Given the description of an element on the screen output the (x, y) to click on. 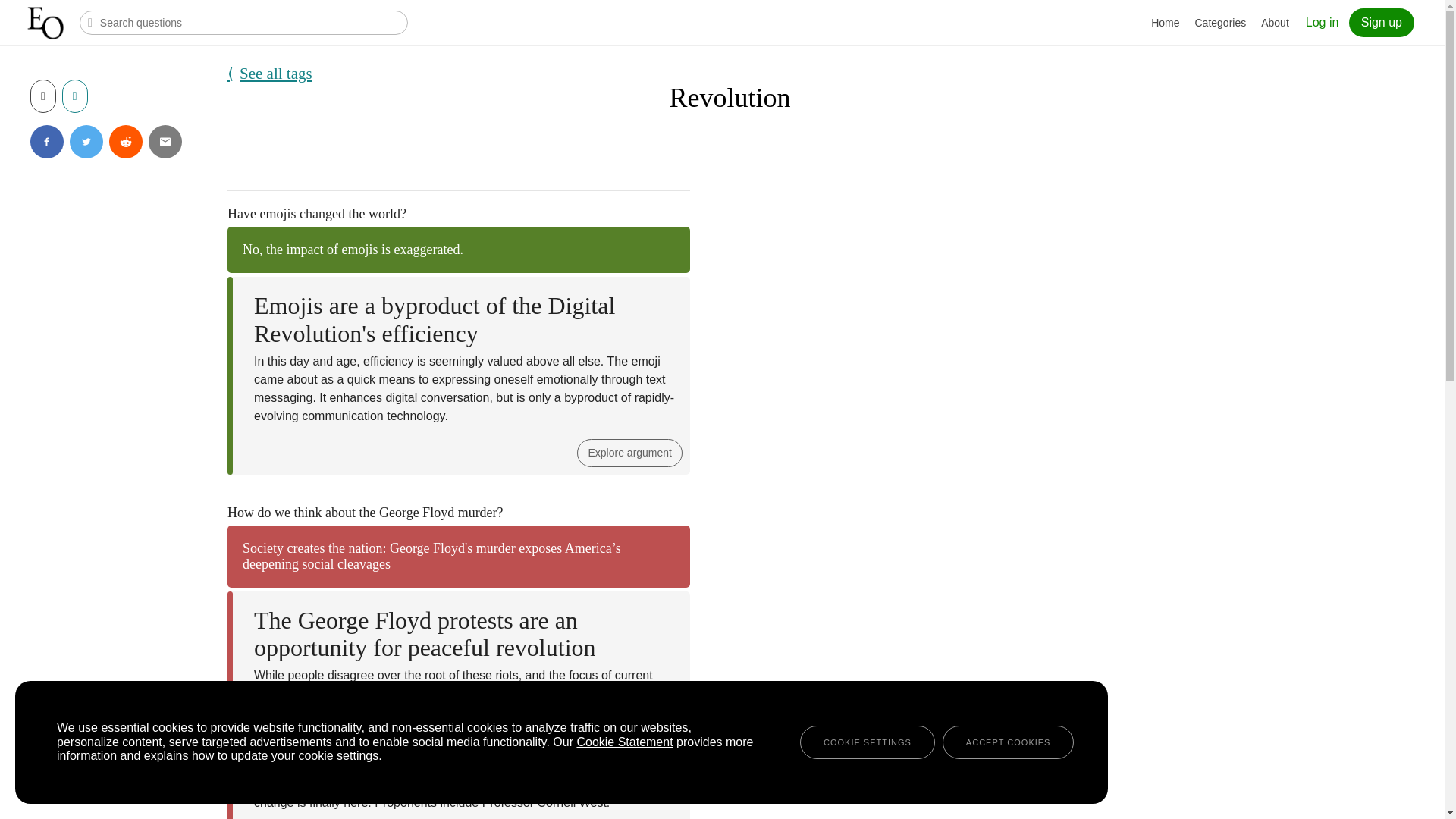
Explore argument (629, 452)
Log In (1322, 21)
Home (1164, 22)
Go to homepage (47, 22)
Categories (1220, 22)
About (1275, 22)
Sign up (1381, 22)
Log in (1322, 21)
Sign up (1381, 22)
